Given the description of an element on the screen output the (x, y) to click on. 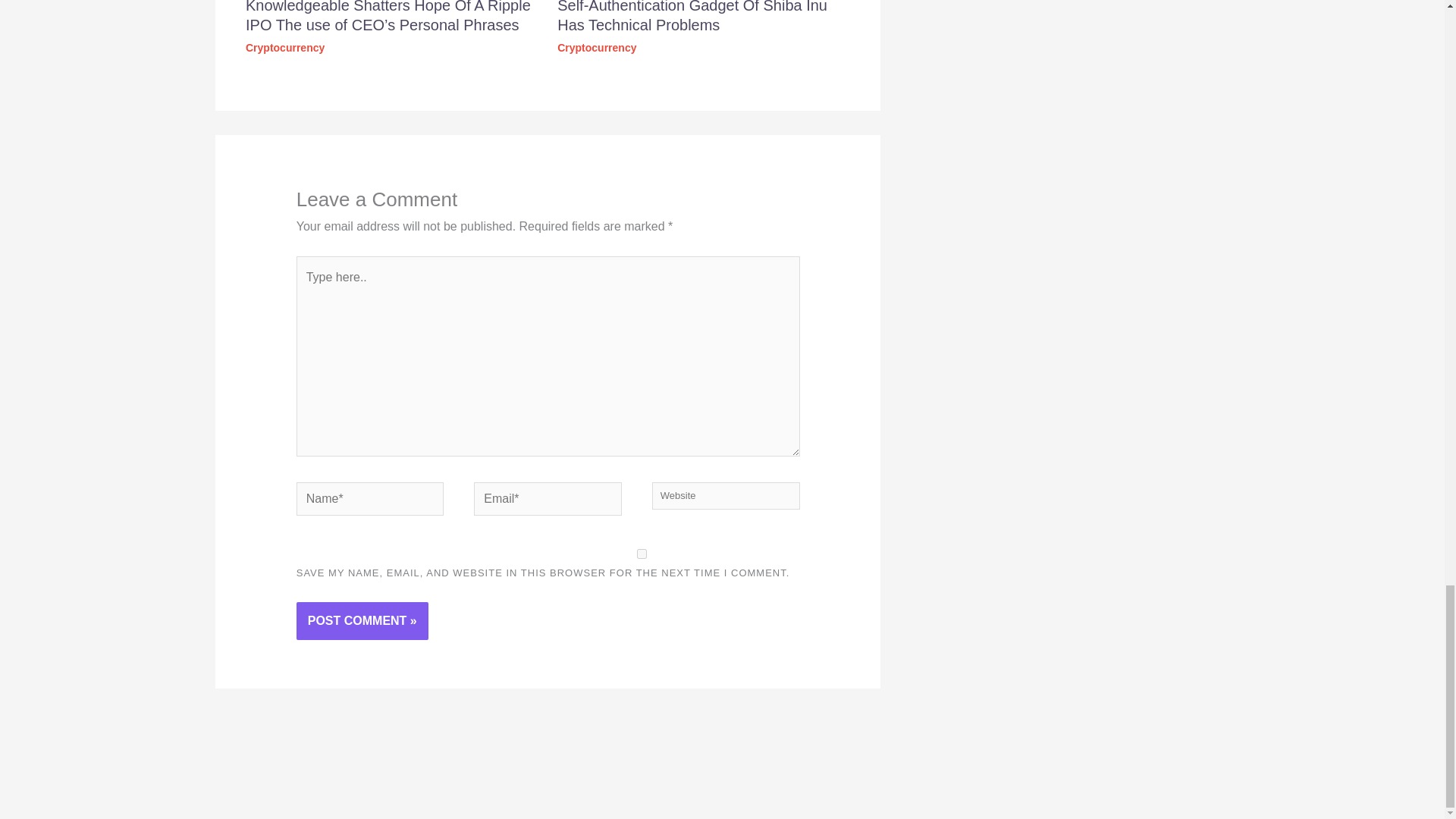
yes (641, 553)
Cryptocurrency (285, 47)
Cryptocurrency (596, 47)
